Given the description of an element on the screen output the (x, y) to click on. 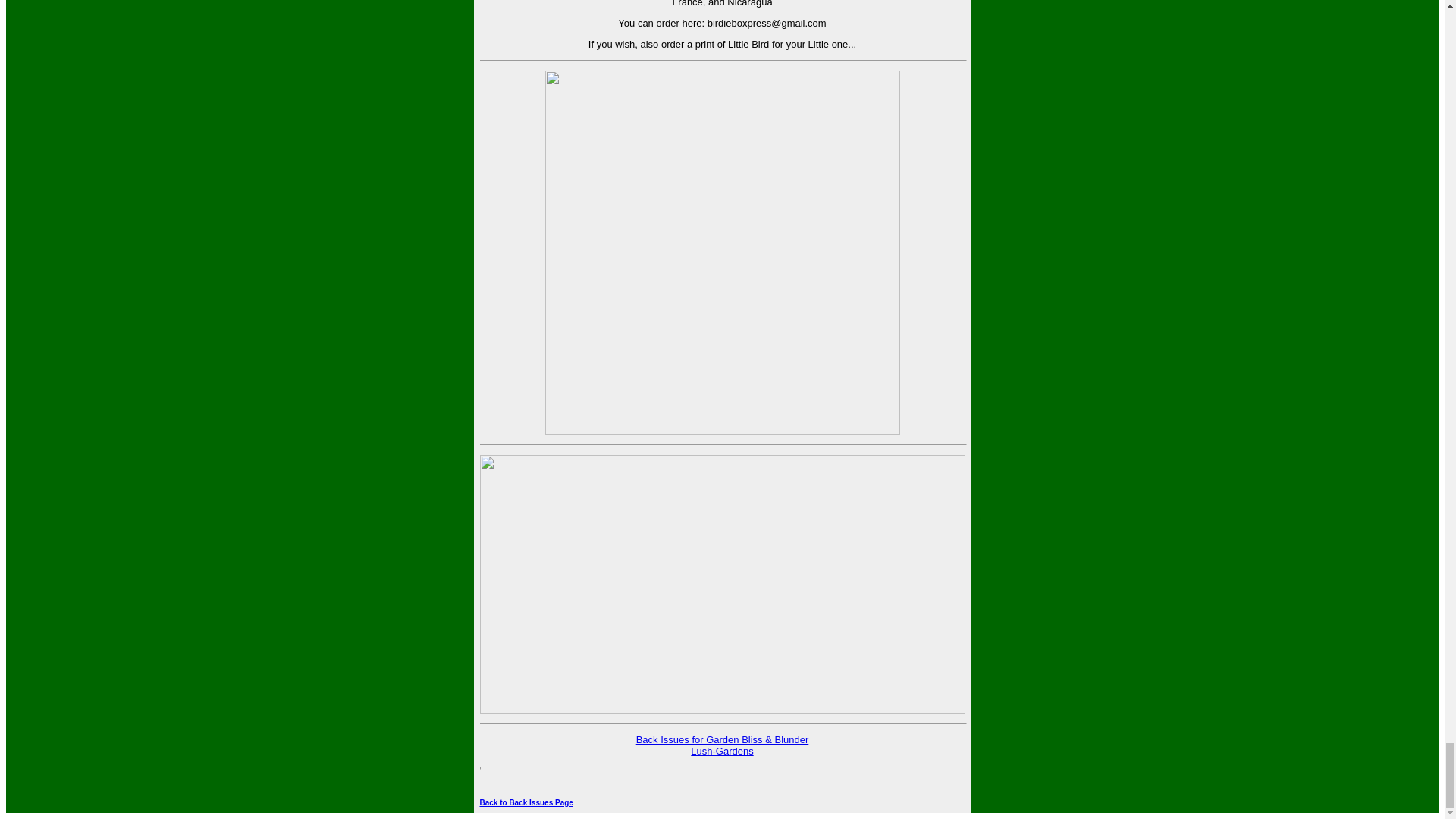
Back to Back Issues Page (525, 802)
Lush-Gardens (721, 750)
